Given the description of an element on the screen output the (x, y) to click on. 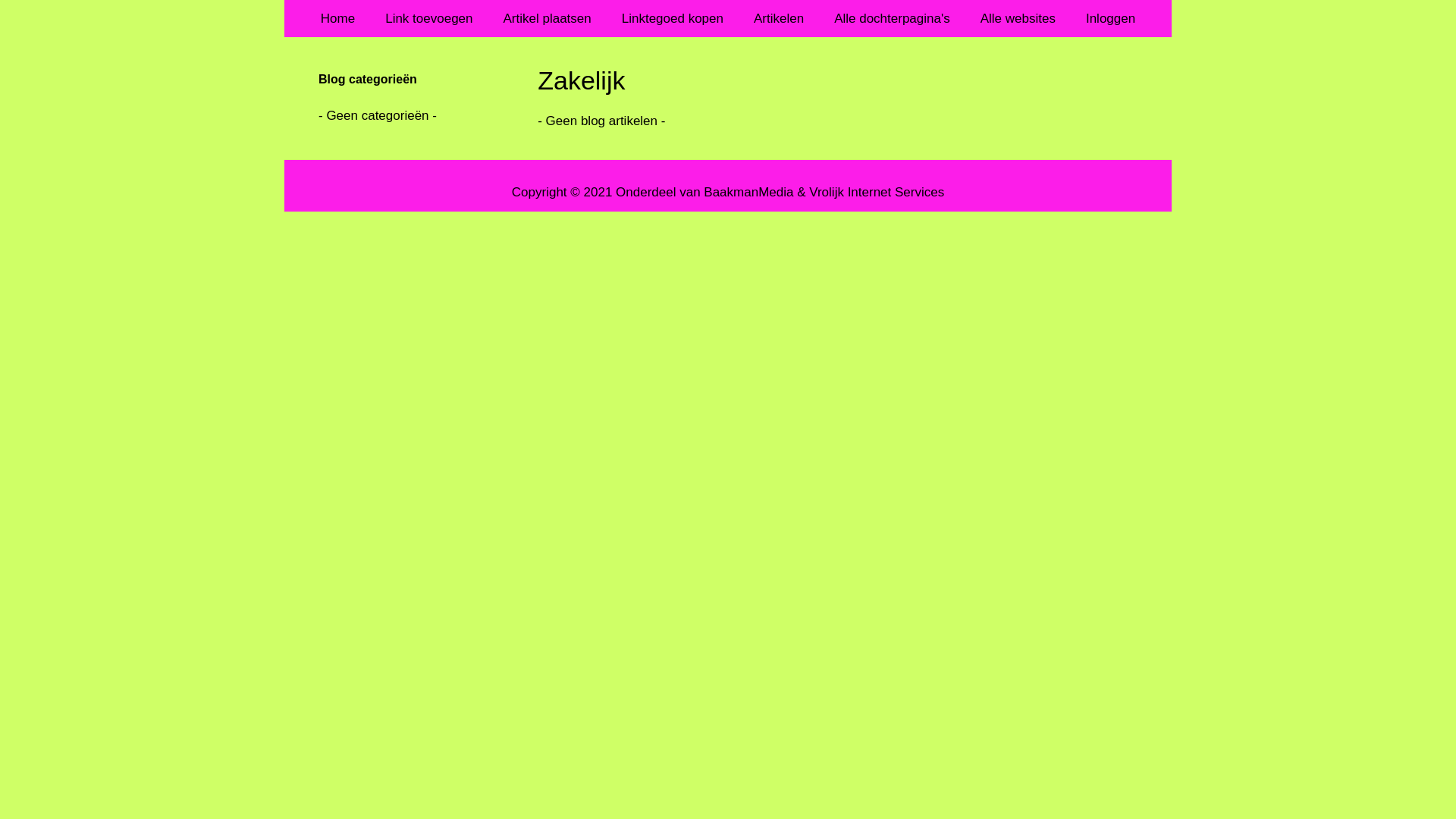
BaakmanMedia Element type: text (748, 191)
Artikelen Element type: text (778, 18)
Inloggen Element type: text (1110, 18)
Link toevoegen Element type: text (428, 18)
Home Element type: text (337, 18)
Alle dochterpagina's Element type: text (892, 18)
Artikel plaatsen Element type: text (547, 18)
Vrolijk Internet Services Element type: text (876, 191)
Alle websites Element type: text (1017, 18)
Linktegoed kopen Element type: text (672, 18)
